Given the description of an element on the screen output the (x, y) to click on. 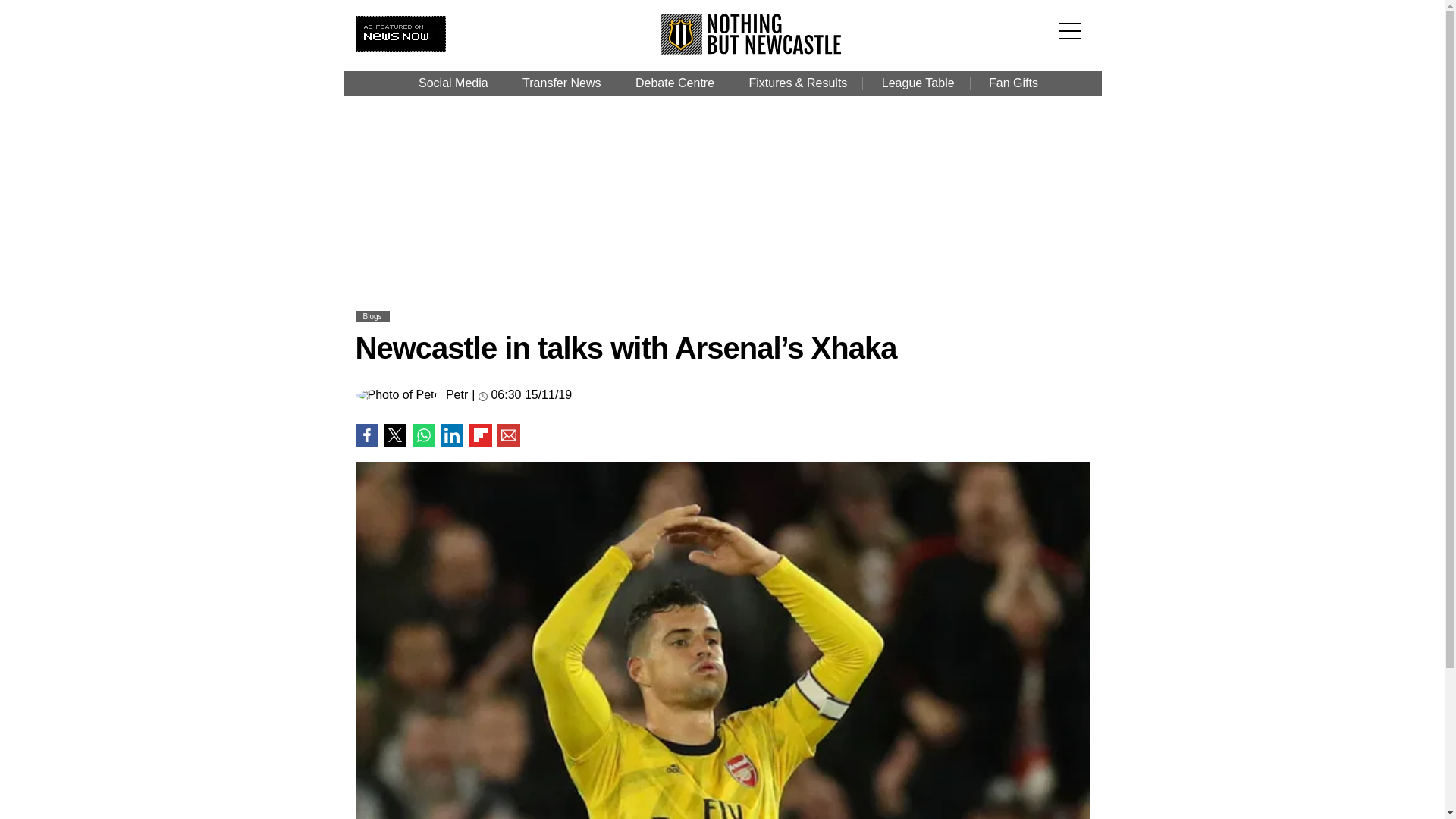
Debate Centre (674, 83)
share on Flipboard (480, 435)
Blogs (371, 316)
Social Media (453, 83)
Transfer News (560, 83)
Fan Gifts (1013, 83)
share on LinkedIn (452, 435)
Petr (456, 395)
share on WhatsApp (423, 435)
League Table (917, 83)
share on Facebook (366, 435)
share on Twitter (395, 435)
Back to the homepage (752, 50)
Menu (1074, 21)
share on Email (508, 435)
